Given the description of an element on the screen output the (x, y) to click on. 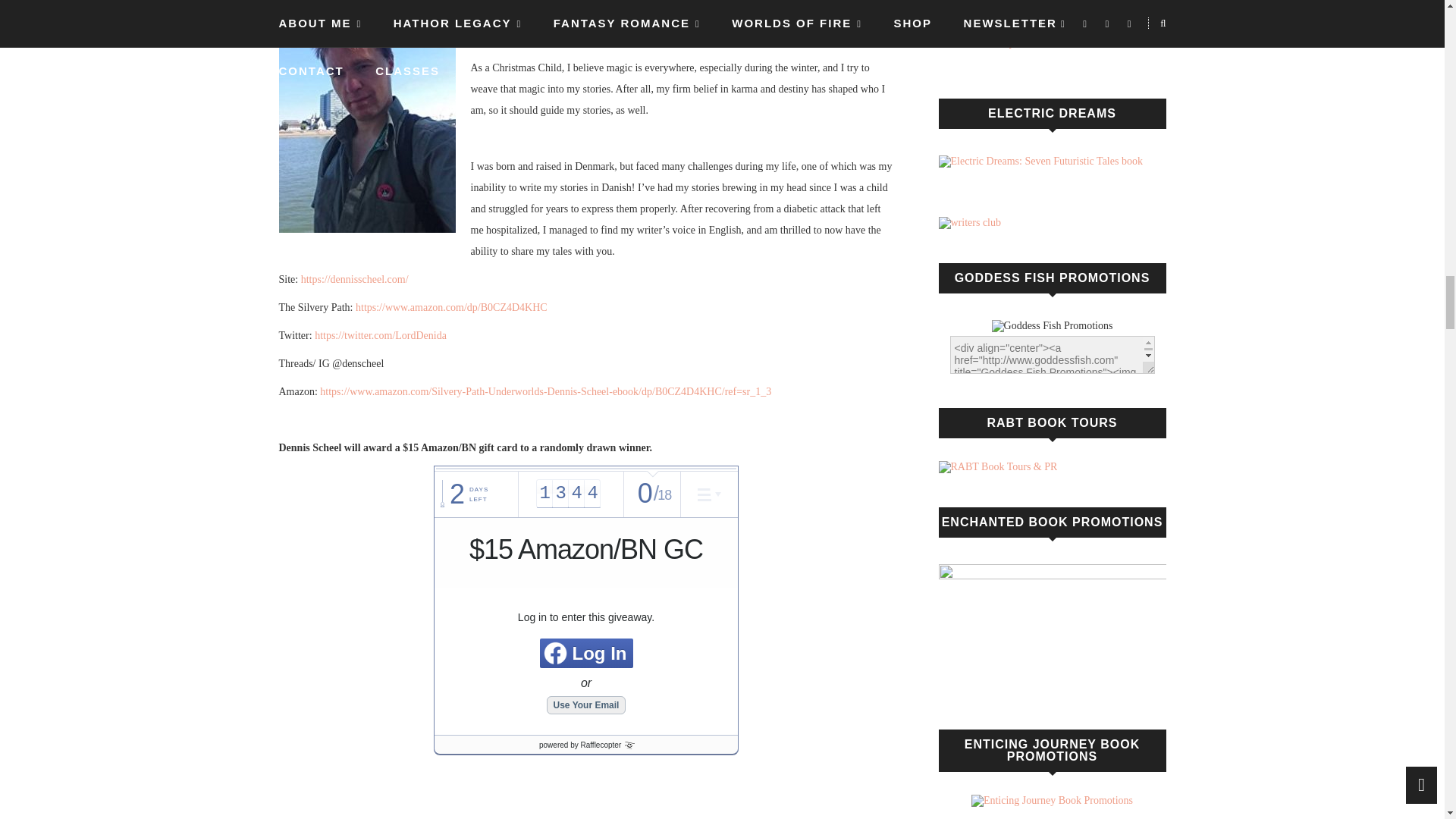
Electric Dreams (1040, 161)
Goddess Fish Promotions (1052, 326)
Enticing Journey Book Promotions (1051, 799)
